Given the description of an element on the screen output the (x, y) to click on. 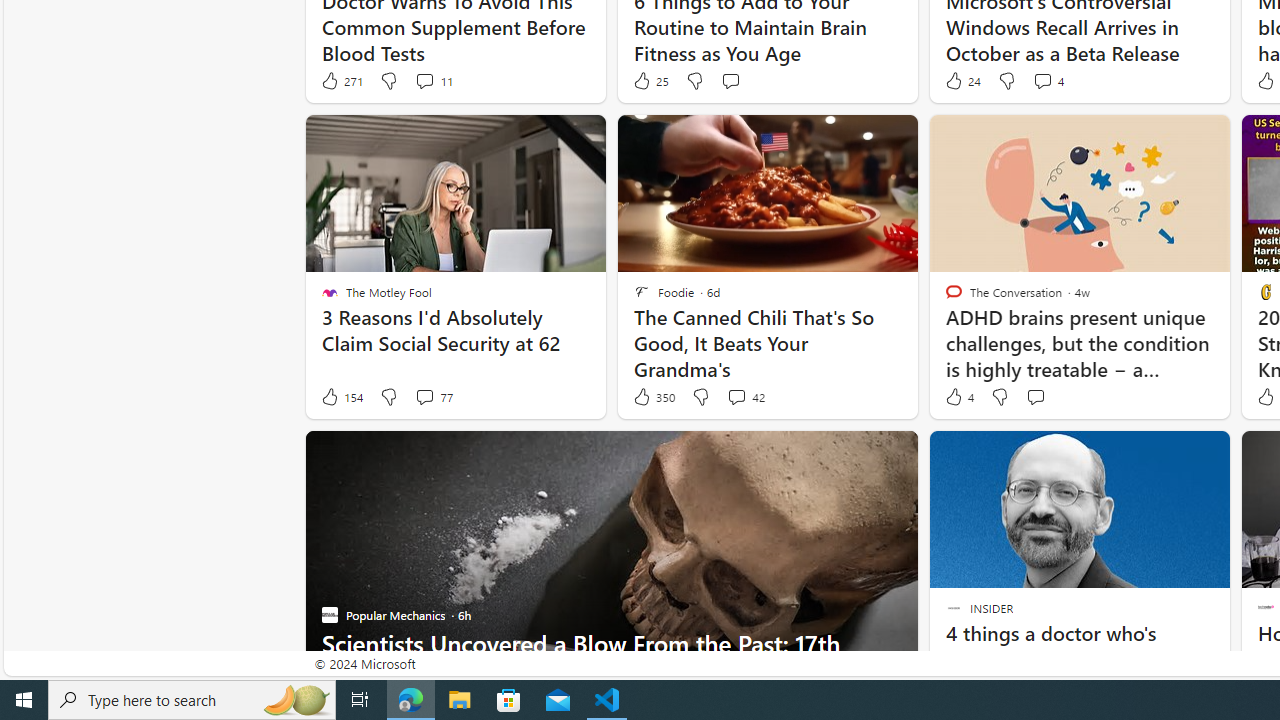
350 Like (653, 397)
Dislike (998, 397)
View comments 4 Comment (1048, 80)
View comments 4 Comment (1042, 80)
Start the conversation (1035, 397)
25 Like (650, 80)
See more (1205, 454)
View comments 77 Comment (432, 397)
View comments 77 Comment (424, 396)
4 Like (957, 397)
Hide this story (1169, 454)
View comments 42 Comment (736, 396)
24 Like (961, 80)
Start the conversation (1035, 396)
